Given the description of an element on the screen output the (x, y) to click on. 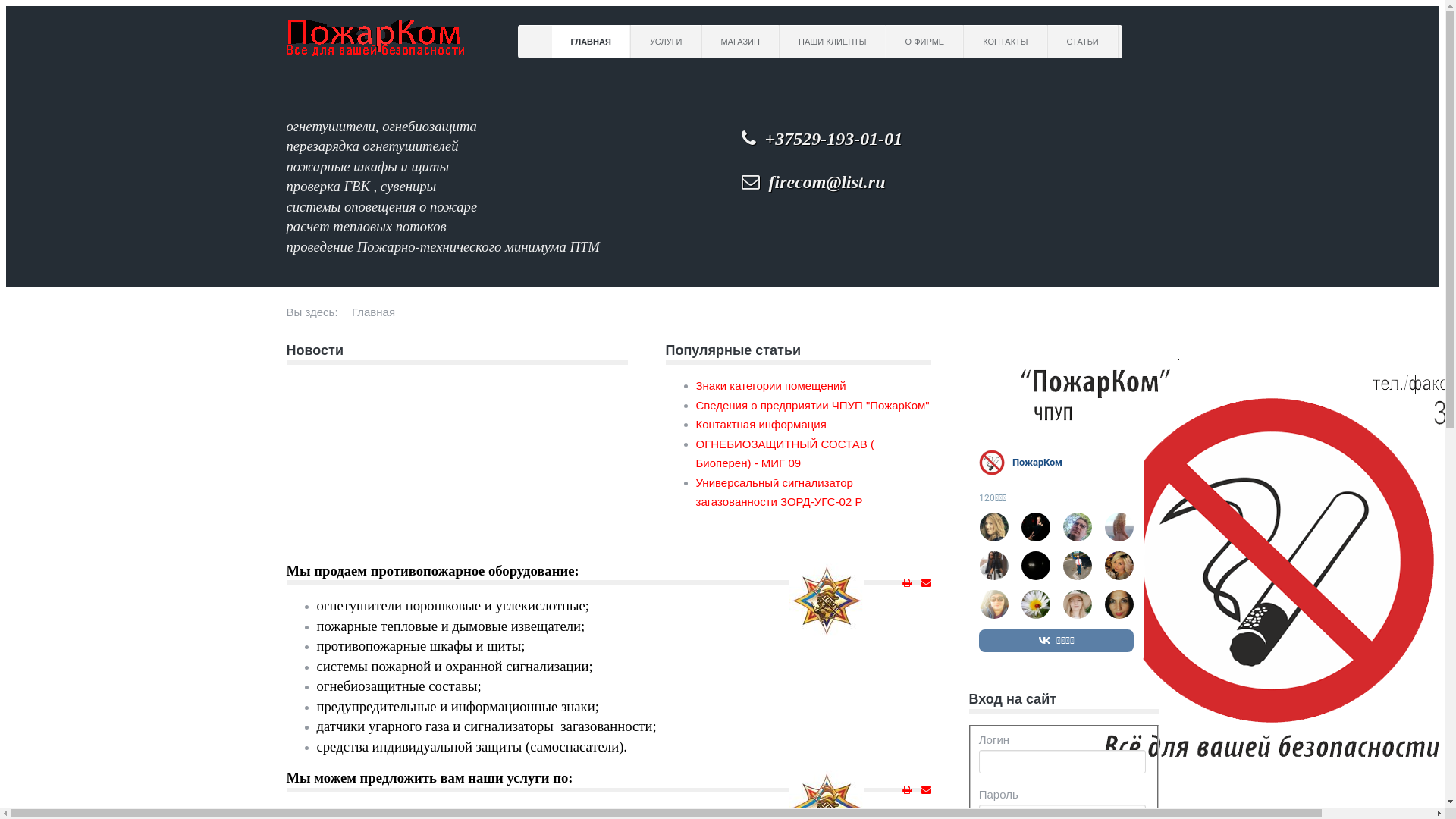
Email this link to a friend Element type: hover (925, 583)
Prev Element type: text (987, 359)
  +37529-193-01-01   Element type: text (826, 134)
Email this link to a friend Element type: hover (925, 790)
Next Element type: text (987, 382)
  firecom@list.ru Element type: text (822, 181)
